Given the description of an element on the screen output the (x, y) to click on. 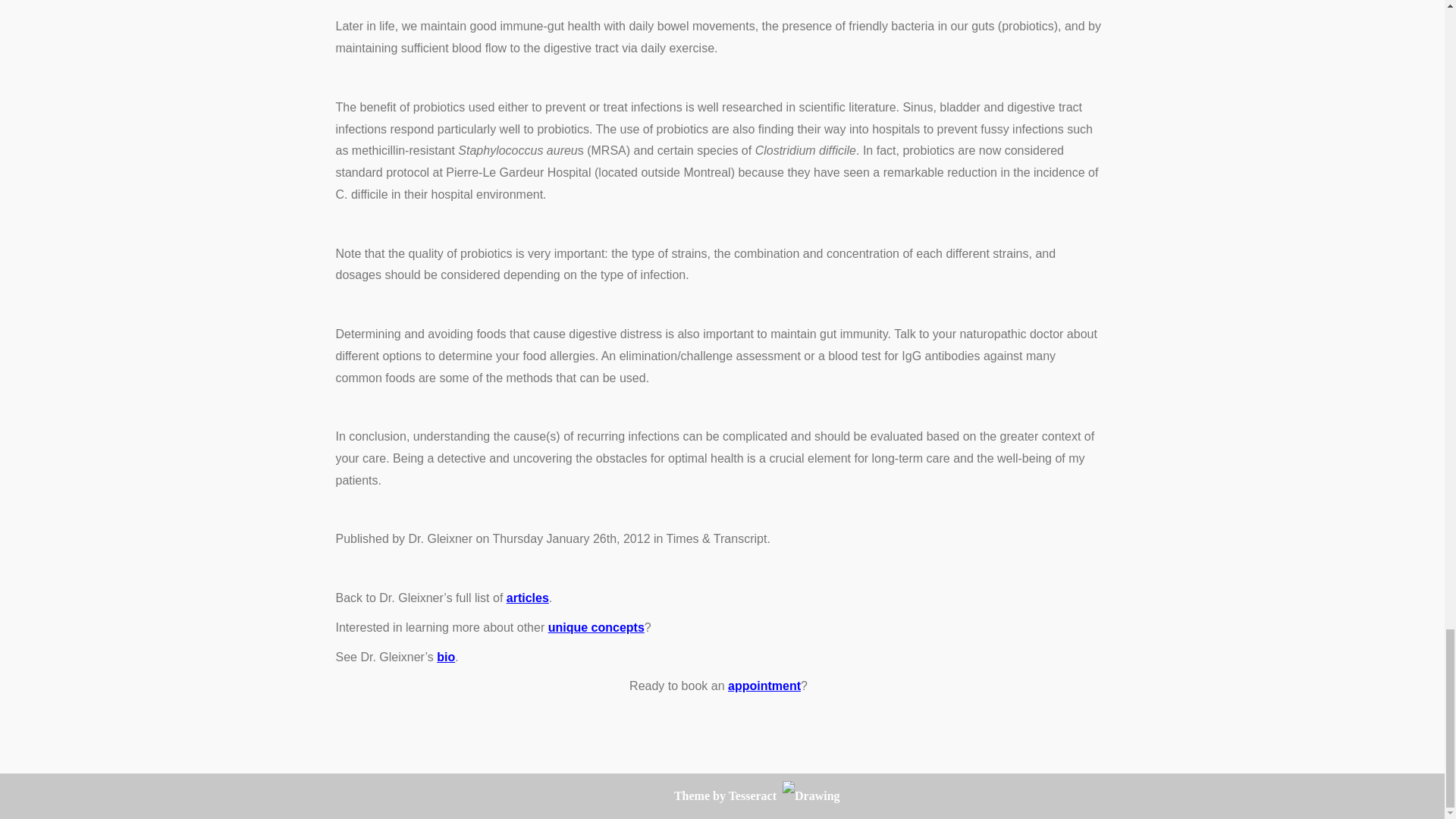
articles (527, 597)
Theme by Tesseract (725, 795)
bio (445, 656)
appointment (764, 685)
unique concepts (596, 626)
